Given the description of an element on the screen output the (x, y) to click on. 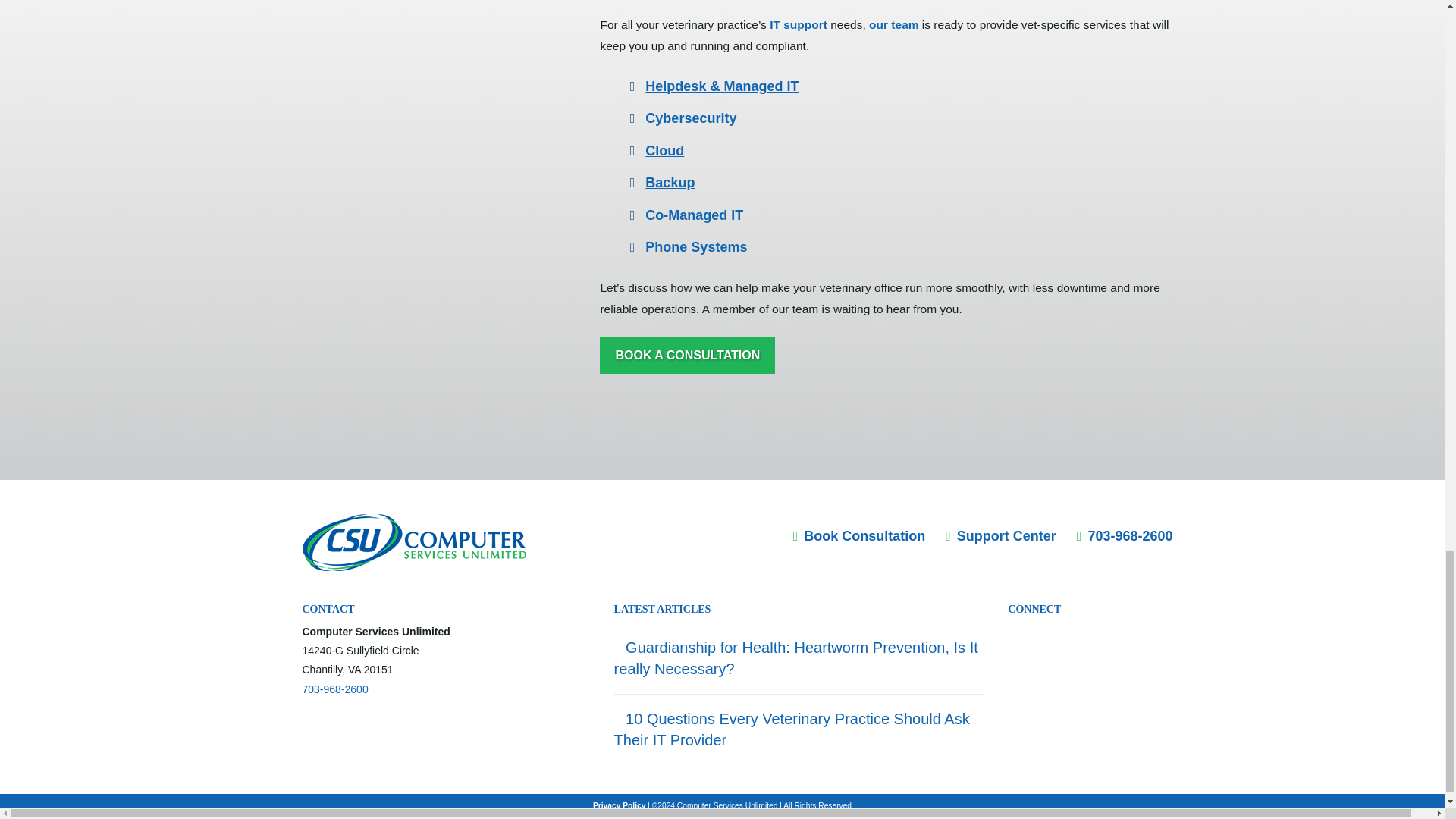
703-968-2600 (334, 689)
Support Center (1000, 535)
Backup (669, 182)
Book Consultation (859, 535)
BOOK A CONSULTATION (686, 355)
our team (893, 24)
Cybersecurity (690, 118)
IT support (798, 24)
Co-Managed IT (693, 215)
Cloud (664, 150)
